Given the description of an element on the screen output the (x, y) to click on. 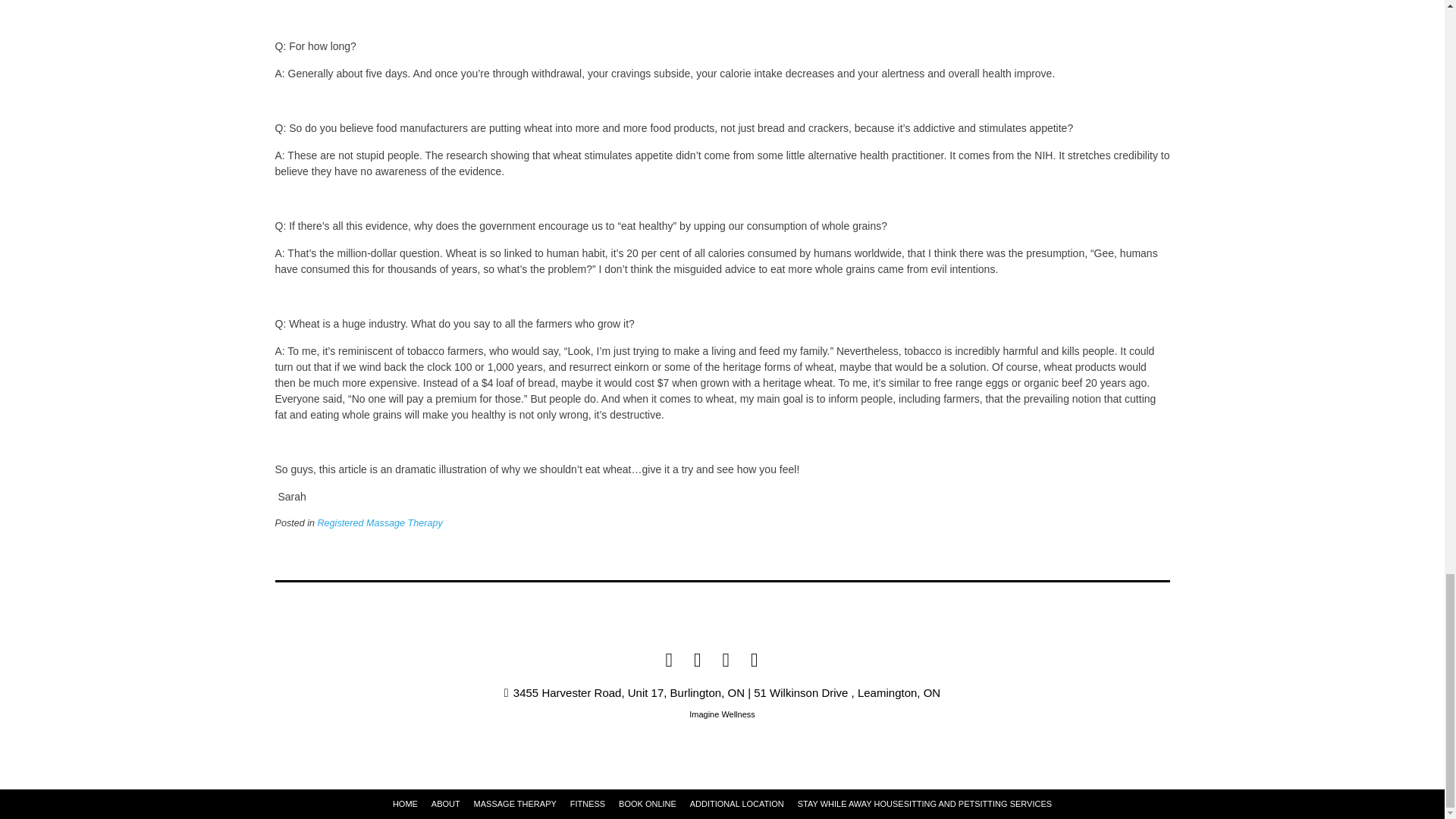
ABOUT (445, 803)
Registered Massage Therapy (379, 522)
HOME (405, 803)
